Given the description of an element on the screen output the (x, y) to click on. 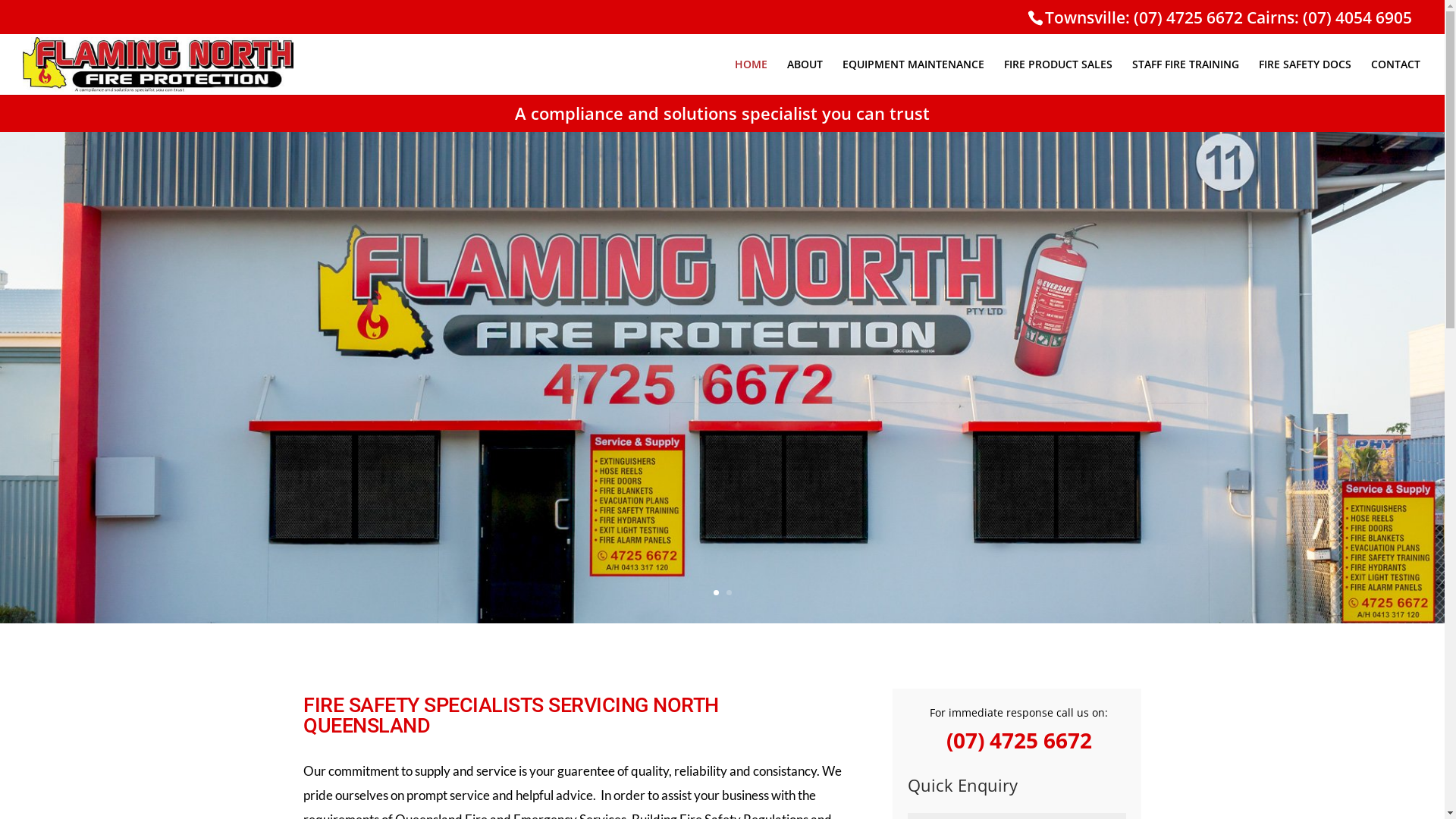
1 Element type: text (715, 592)
CONTACT Element type: text (1395, 76)
FIRE PRODUCT SALES Element type: text (1058, 76)
STAFF FIRE TRAINING Element type: text (1185, 76)
ABOUT Element type: text (804, 76)
FIRE SAFETY DOCS Element type: text (1304, 76)
2 Element type: text (728, 592)
HOME Element type: text (750, 76)
EQUIPMENT MAINTENANCE Element type: text (913, 76)
